Given the description of an element on the screen output the (x, y) to click on. 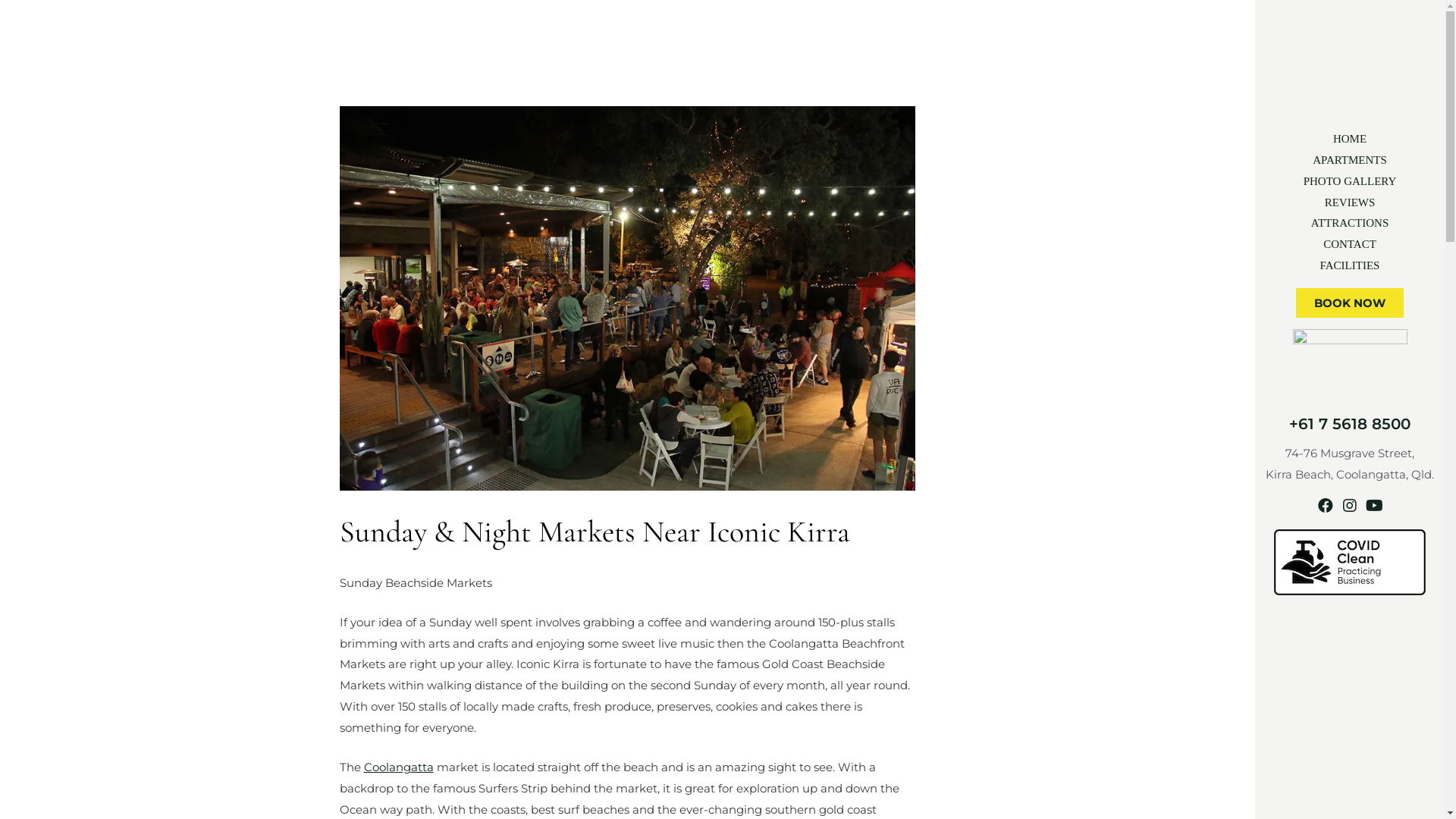
Coolangatta Element type: text (398, 766)
PHOTO GALLERY Element type: text (1349, 181)
FACILITIES Element type: text (1350, 265)
+61 7 5618 8500 Element type: text (1349, 423)
APARTMENTS Element type: text (1349, 159)
BOOK NOW Element type: text (1349, 302)
REVIEWS Element type: text (1349, 202)
CONTACT Element type: text (1349, 244)
ATTRACTIONS Element type: text (1350, 222)
HOME Element type: text (1349, 138)
